Given the description of an element on the screen output the (x, y) to click on. 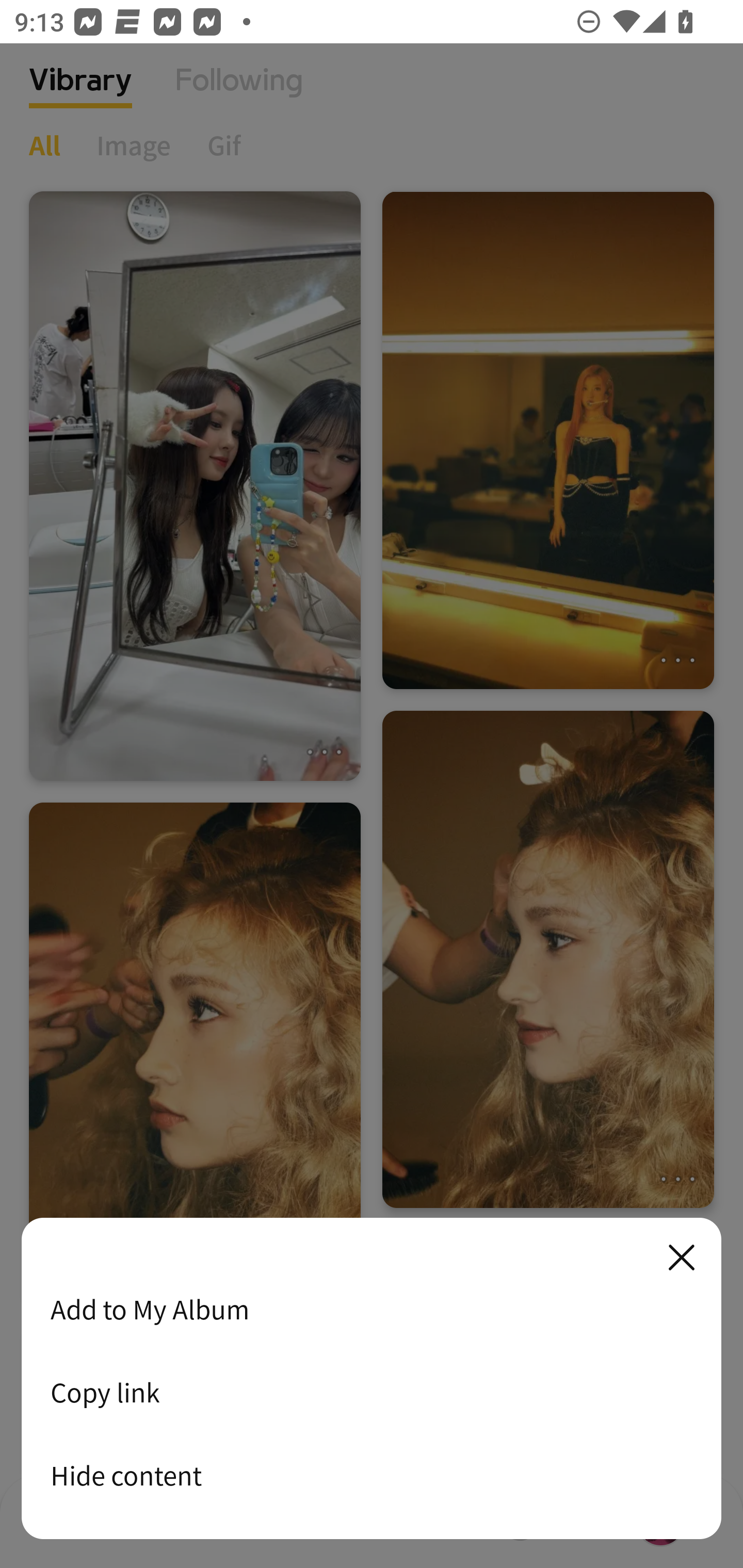
Add to My Album Copy link Hide content (371, 1378)
Add to My Album (371, 1308)
Copy link (371, 1391)
Hide content (371, 1474)
